Given the description of an element on the screen output the (x, y) to click on. 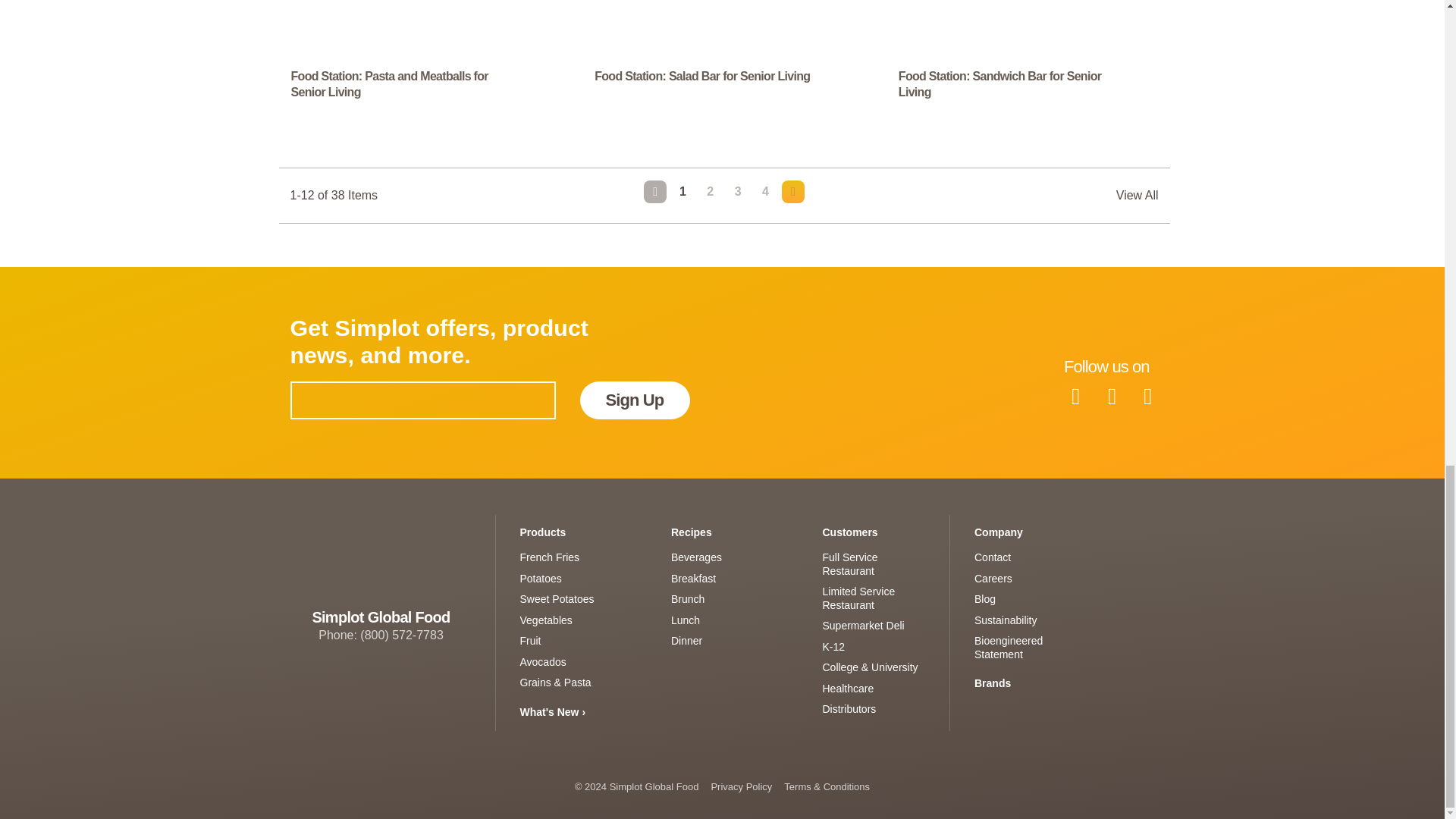
Simplot Foods Youtube (1111, 396)
Simplot Foods Facebook Page (1076, 396)
Simplot Foods Instagram (1147, 396)
